Given the description of an element on the screen output the (x, y) to click on. 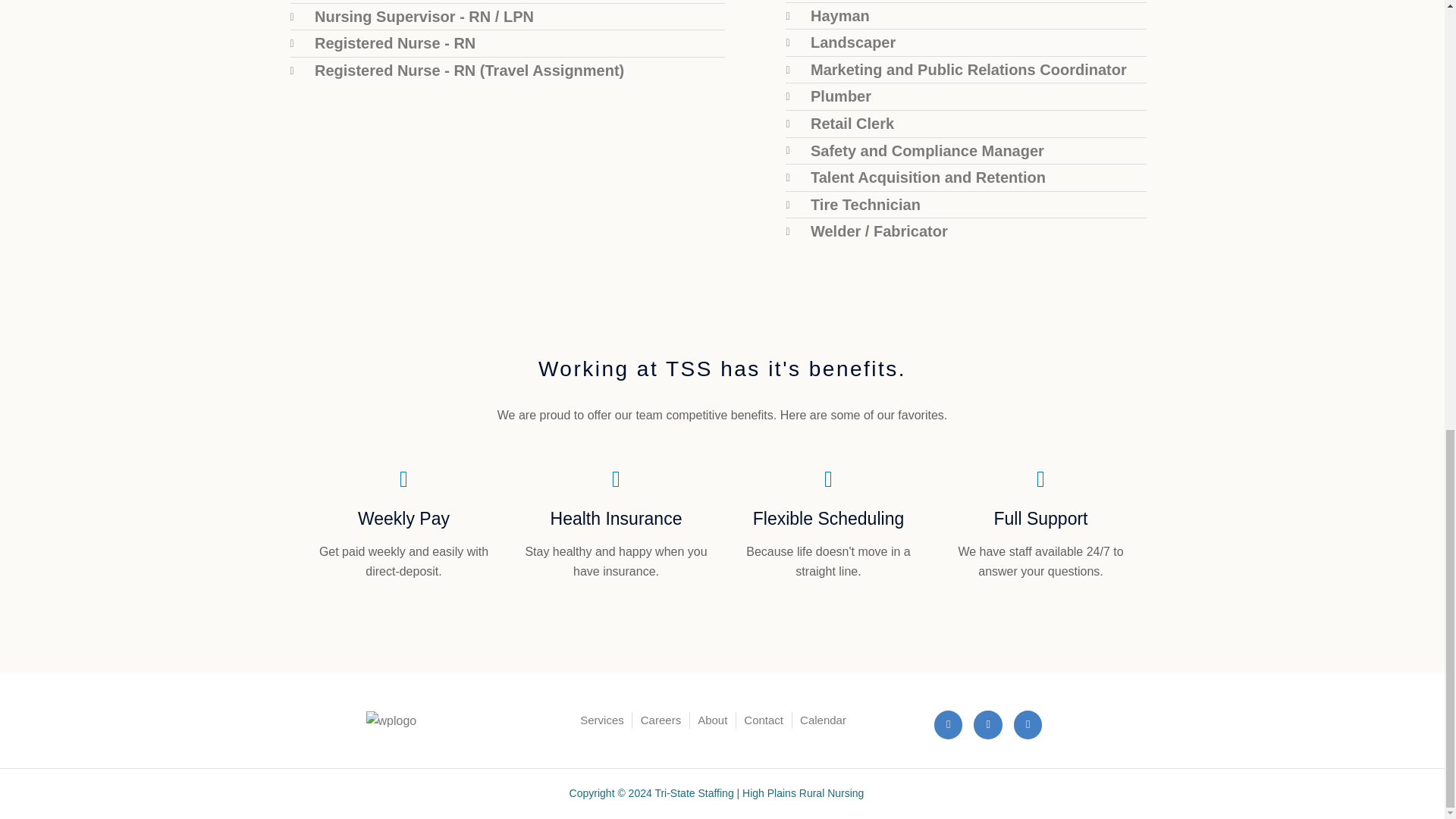
Safety and Compliance Manager (966, 151)
Landscaper (966, 43)
Hayman (966, 16)
Talent Acquisition and Retention (966, 178)
Tire Technician (966, 205)
Weekly Pay (403, 518)
Registered Nurse - RN (507, 44)
Plumber (966, 96)
Retail Clerk (966, 124)
Marketing and Public Relations Coordinator (966, 70)
